Given the description of an element on the screen output the (x, y) to click on. 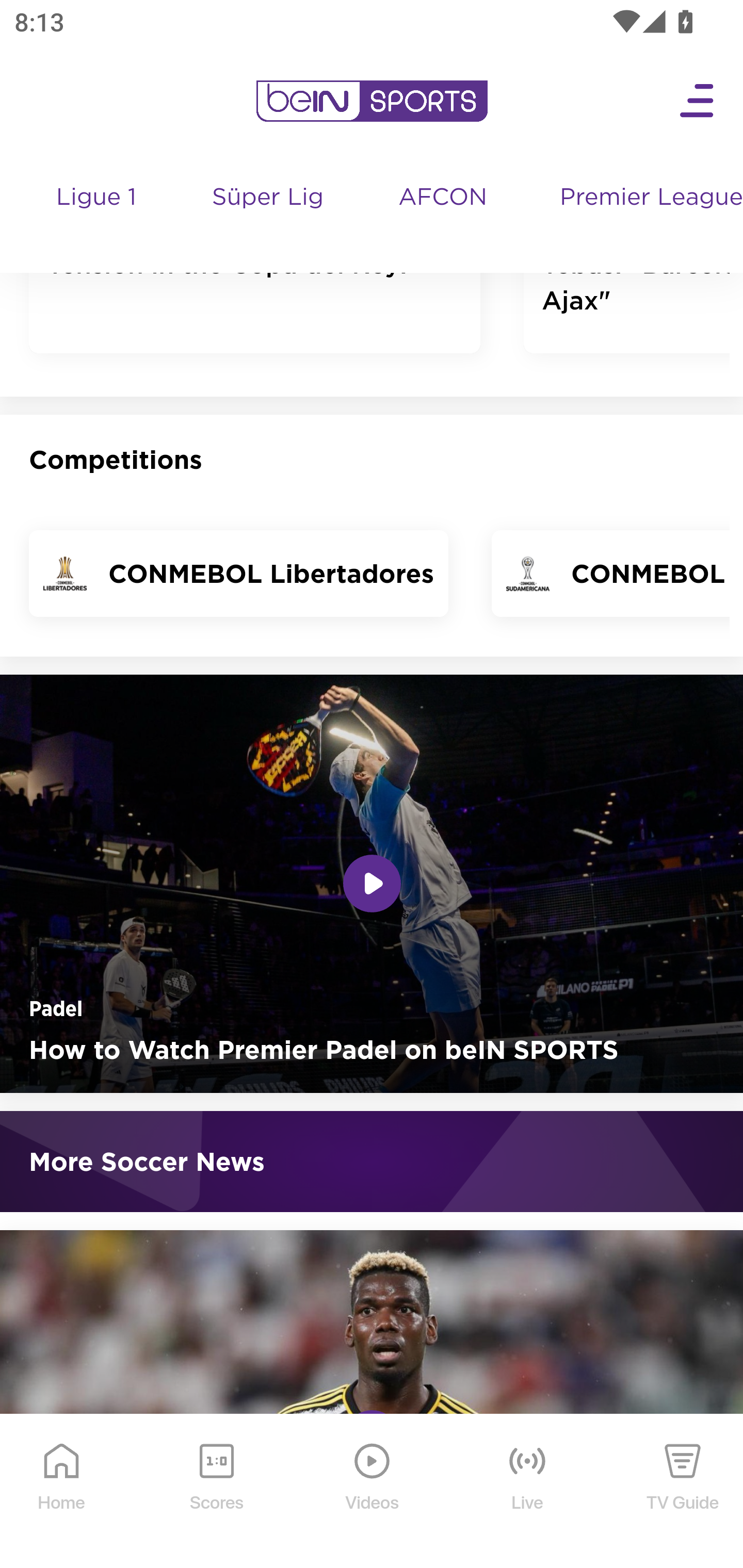
en-us?platform=mobile_android bein logo (371, 101)
Open Menu Icon (697, 101)
Ligue 1 (97, 216)
Süper Lig (268, 216)
AFCON (442, 198)
Premier League (643, 198)
Home Home Icon Home (61, 1491)
Scores Scores Icon Scores (216, 1491)
Videos Videos Icon Videos (372, 1491)
TV Guide TV Guide Icon TV Guide (682, 1491)
